Given the description of an element on the screen output the (x, y) to click on. 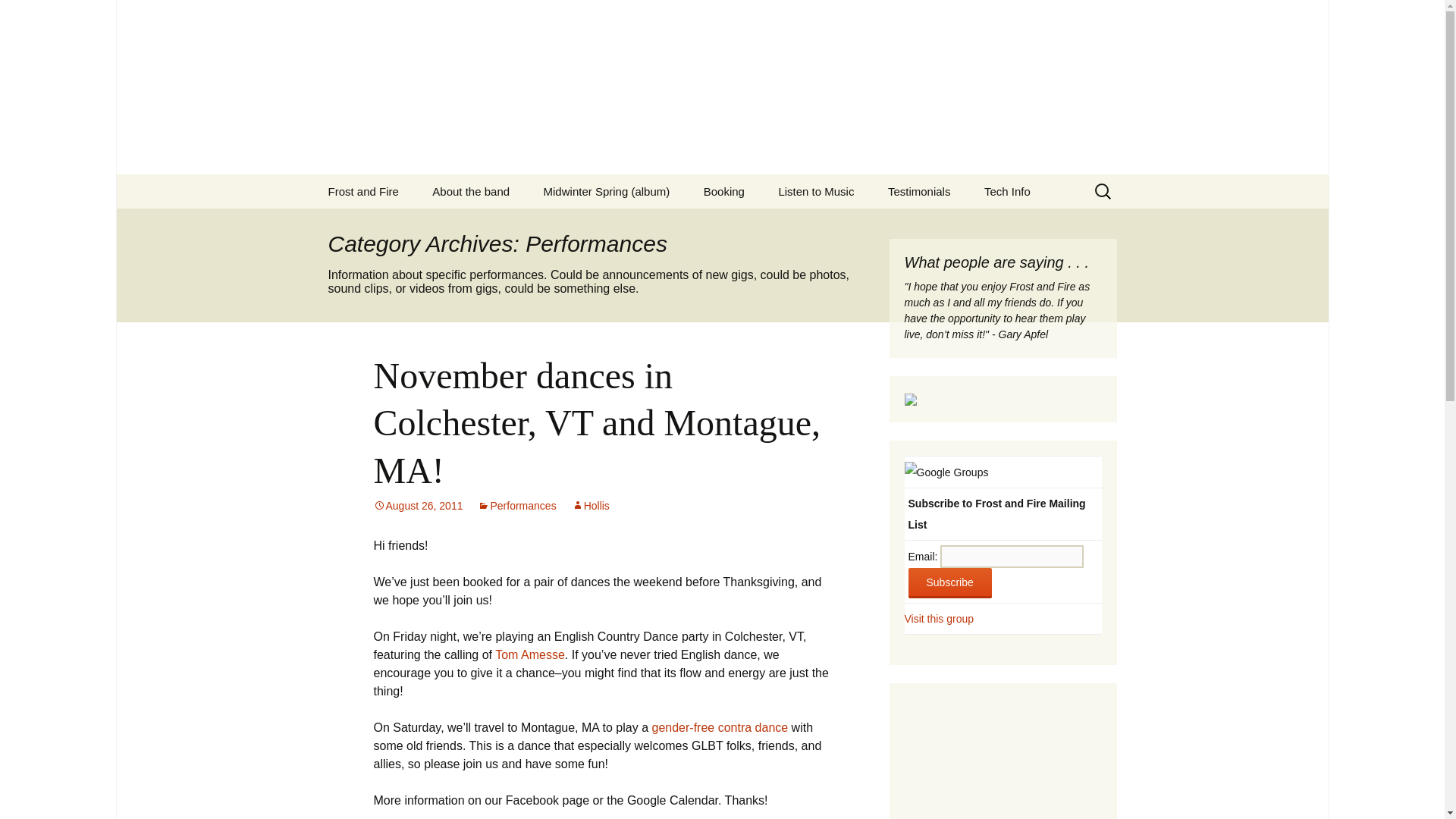
Tom Amesse (529, 654)
Tom Amesse's web site (529, 654)
Testimonials (919, 191)
Tech Info (1007, 191)
gender-free contra dance (720, 727)
Booking (724, 191)
View all posts by Hollis (591, 505)
Hollis (591, 505)
Listen to Music (815, 191)
About the band (939, 618)
Subscribe (470, 191)
